Given the description of an element on the screen output the (x, y) to click on. 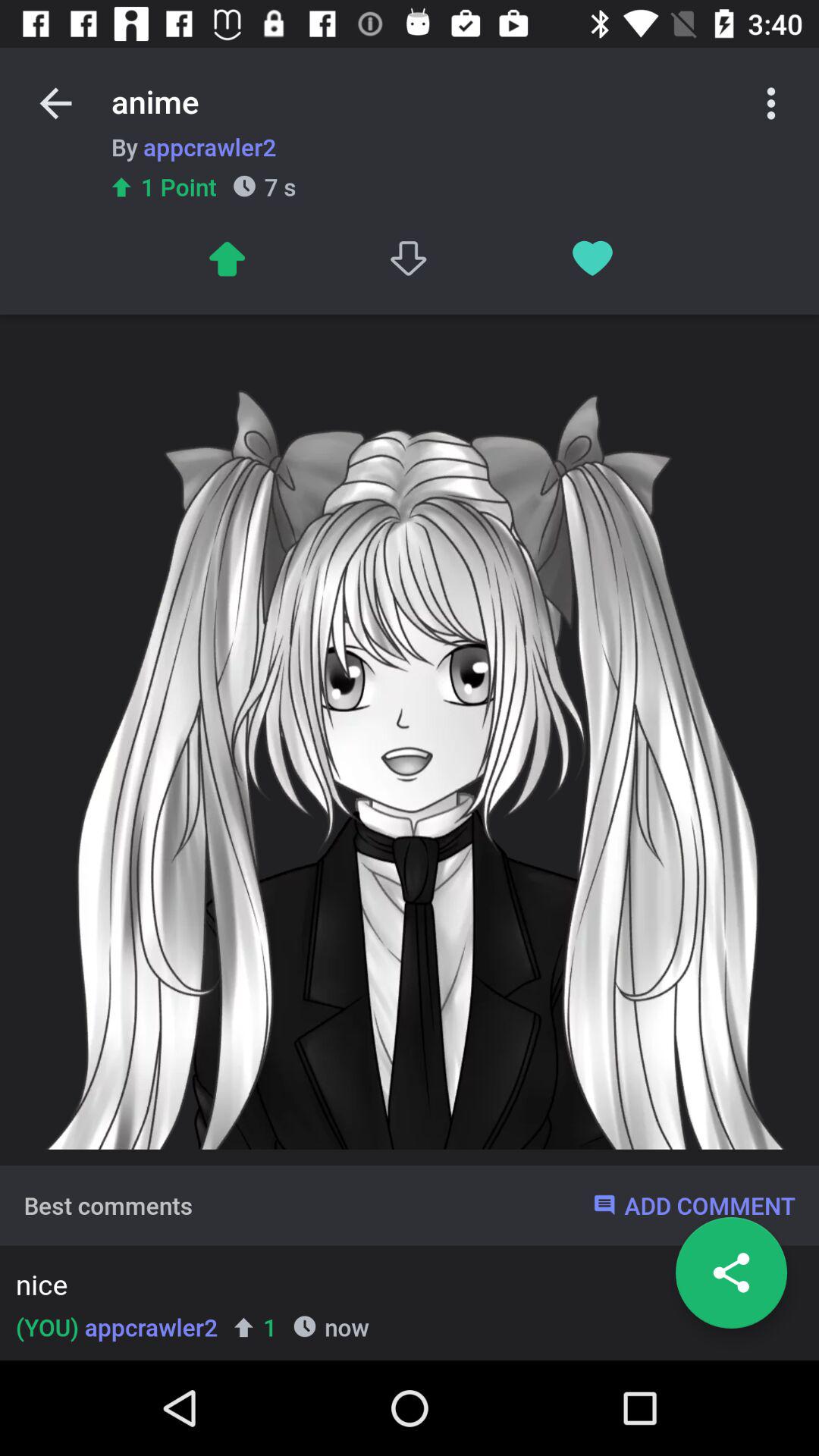
scroll until best comments icon (108, 1205)
